Given the description of an element on the screen output the (x, y) to click on. 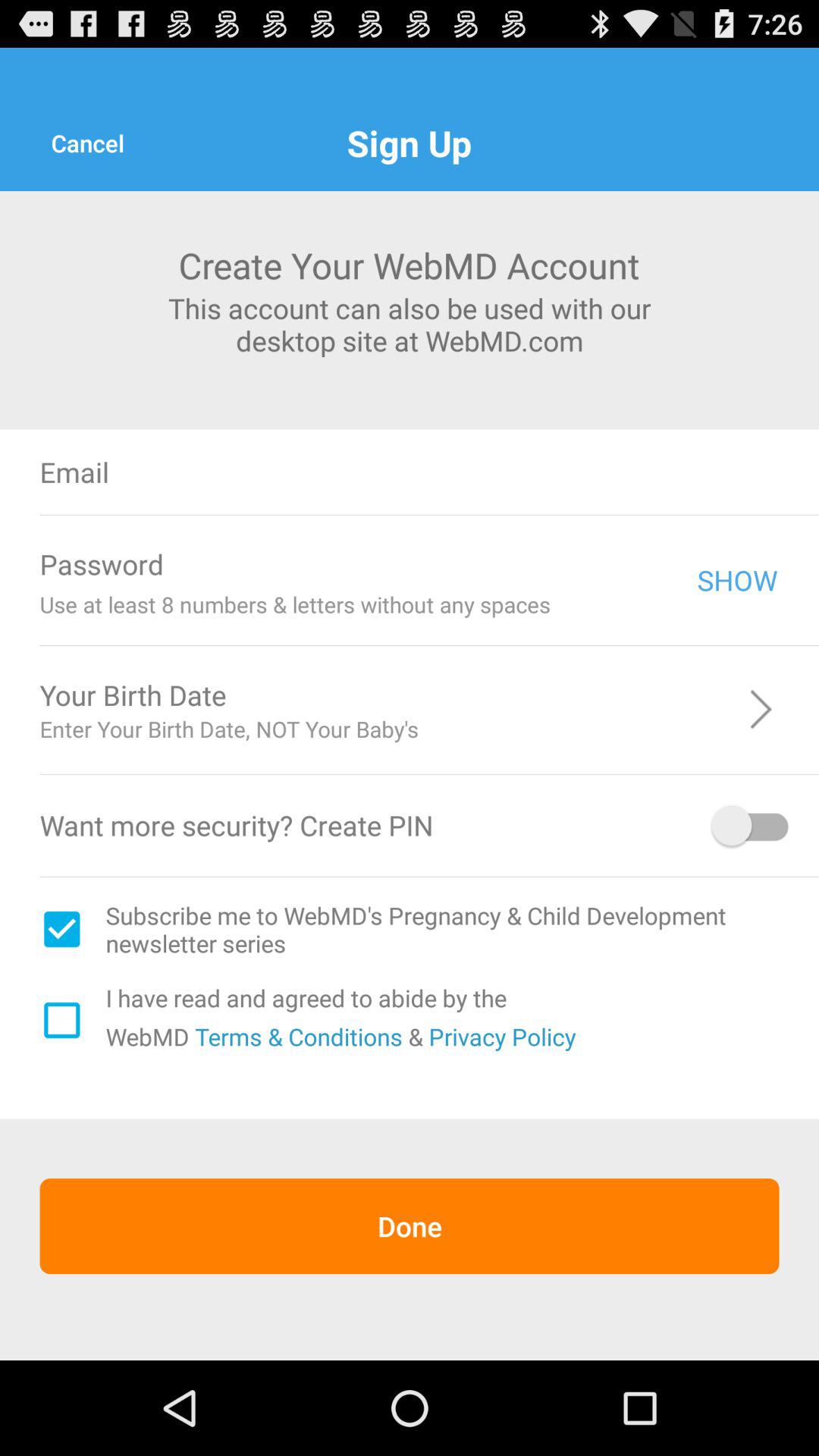
scroll until the privacy policy item (502, 1036)
